Given the description of an element on the screen output the (x, y) to click on. 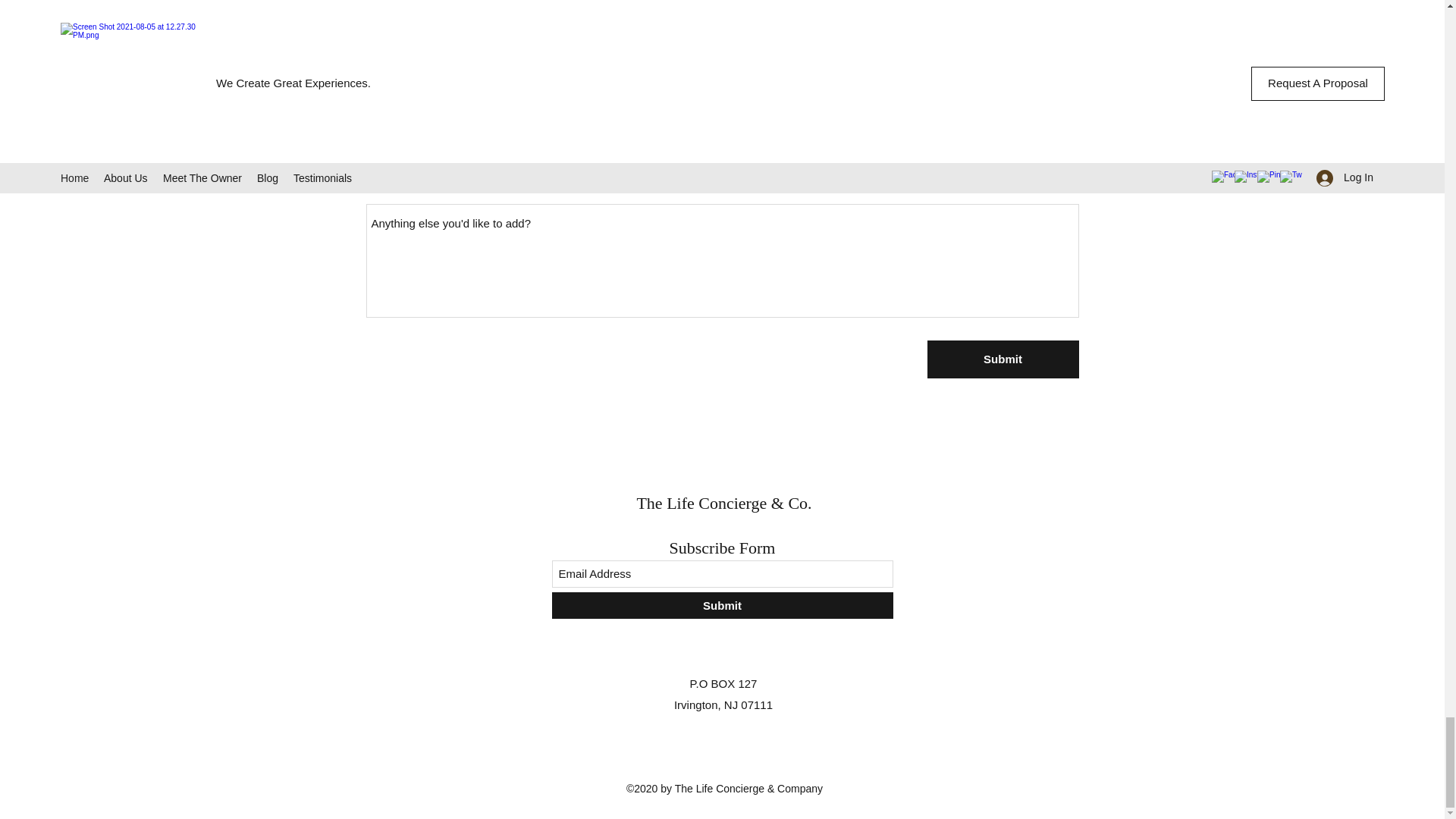
Submit (1002, 359)
Submit (722, 605)
